Given the description of an element on the screen output the (x, y) to click on. 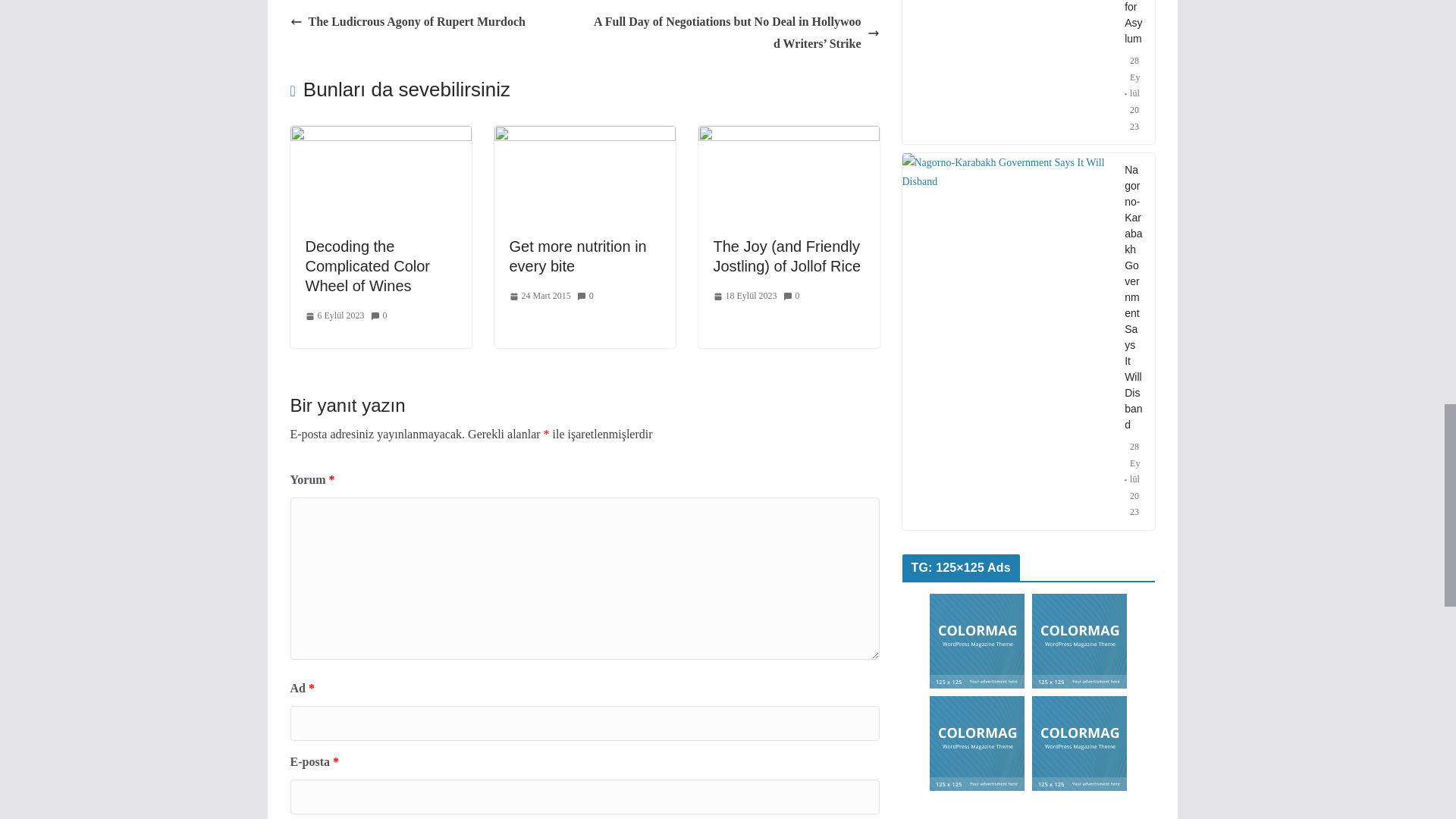
Decoding the Complicated Color Wheel of Wines (379, 135)
Decoding the Complicated Color Wheel of Wines (366, 266)
